Given the description of an element on the screen output the (x, y) to click on. 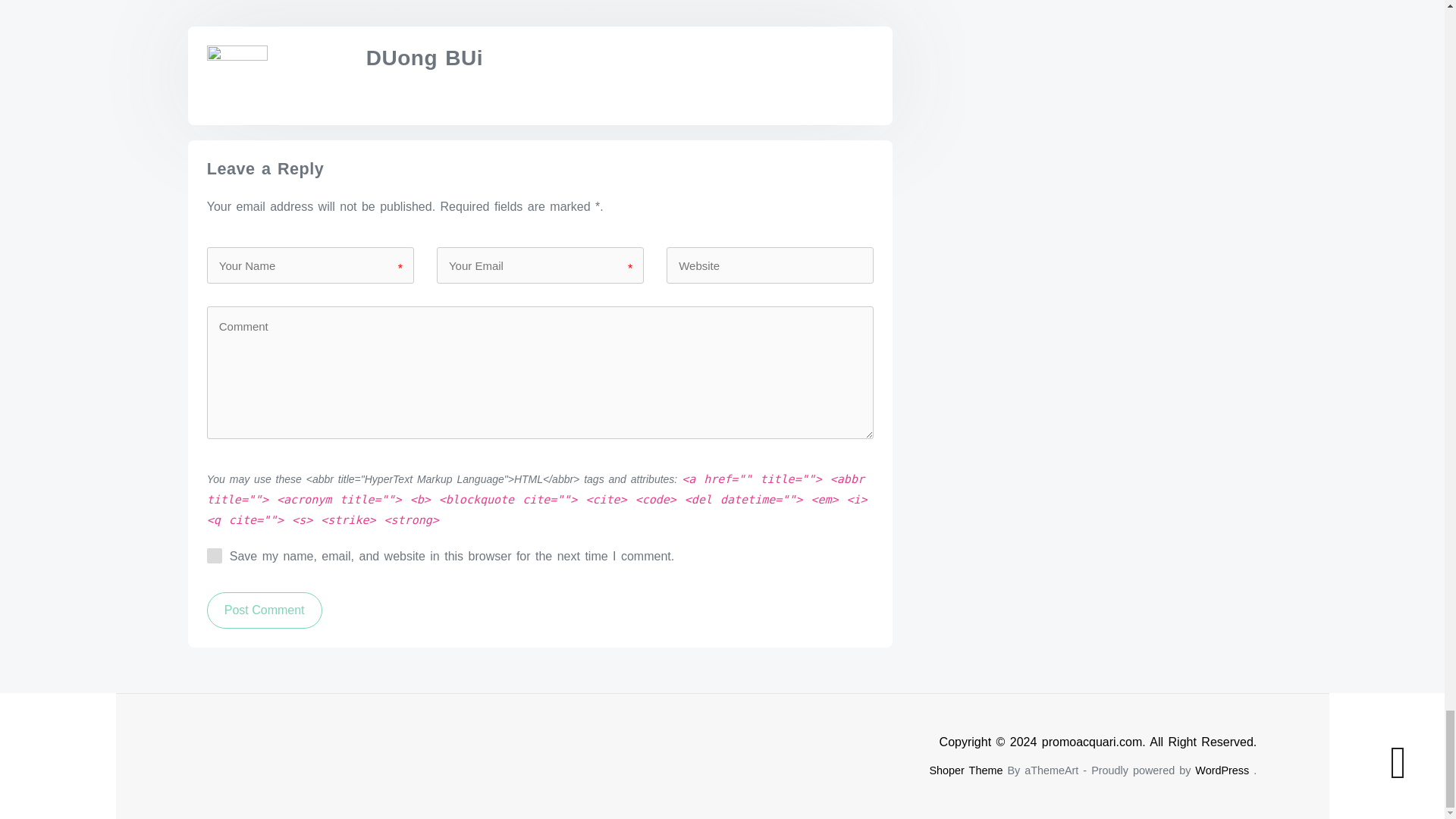
yes (214, 555)
